Given the description of an element on the screen output the (x, y) to click on. 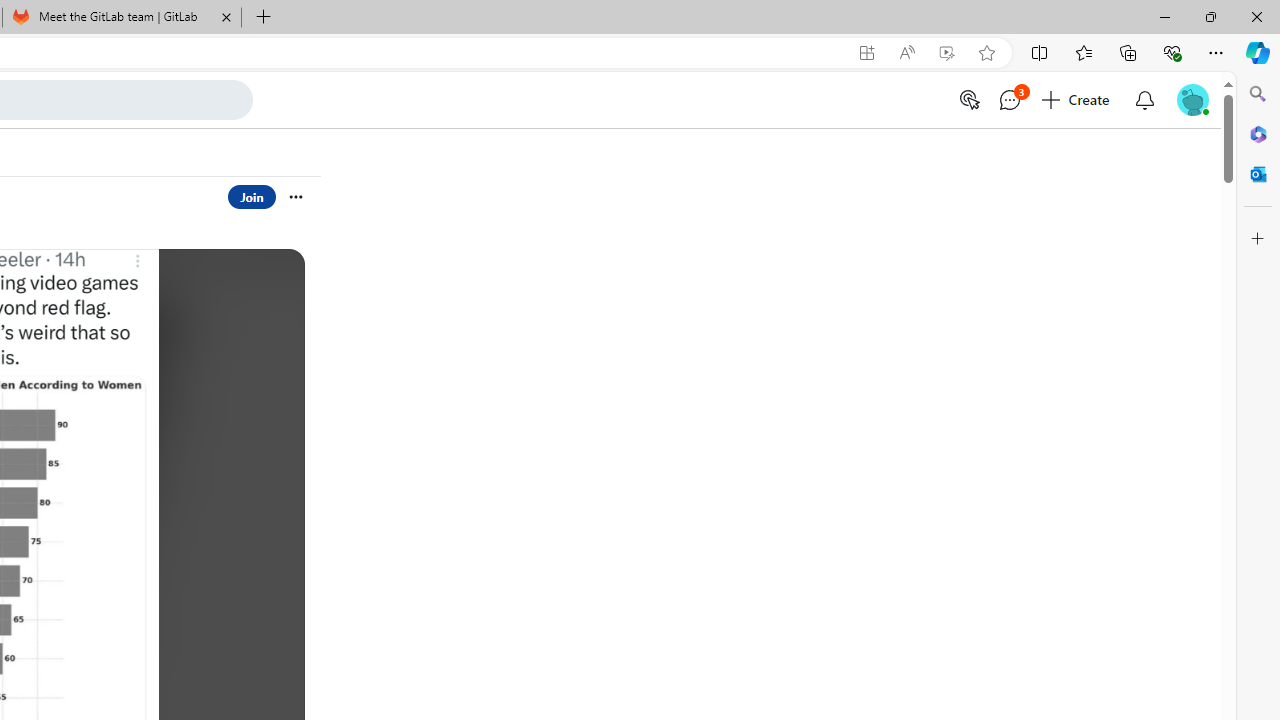
Join (251, 196)
App available. Install Reddit (867, 53)
Open chat (1009, 99)
Open inbox (1143, 99)
